Given the description of an element on the screen output the (x, y) to click on. 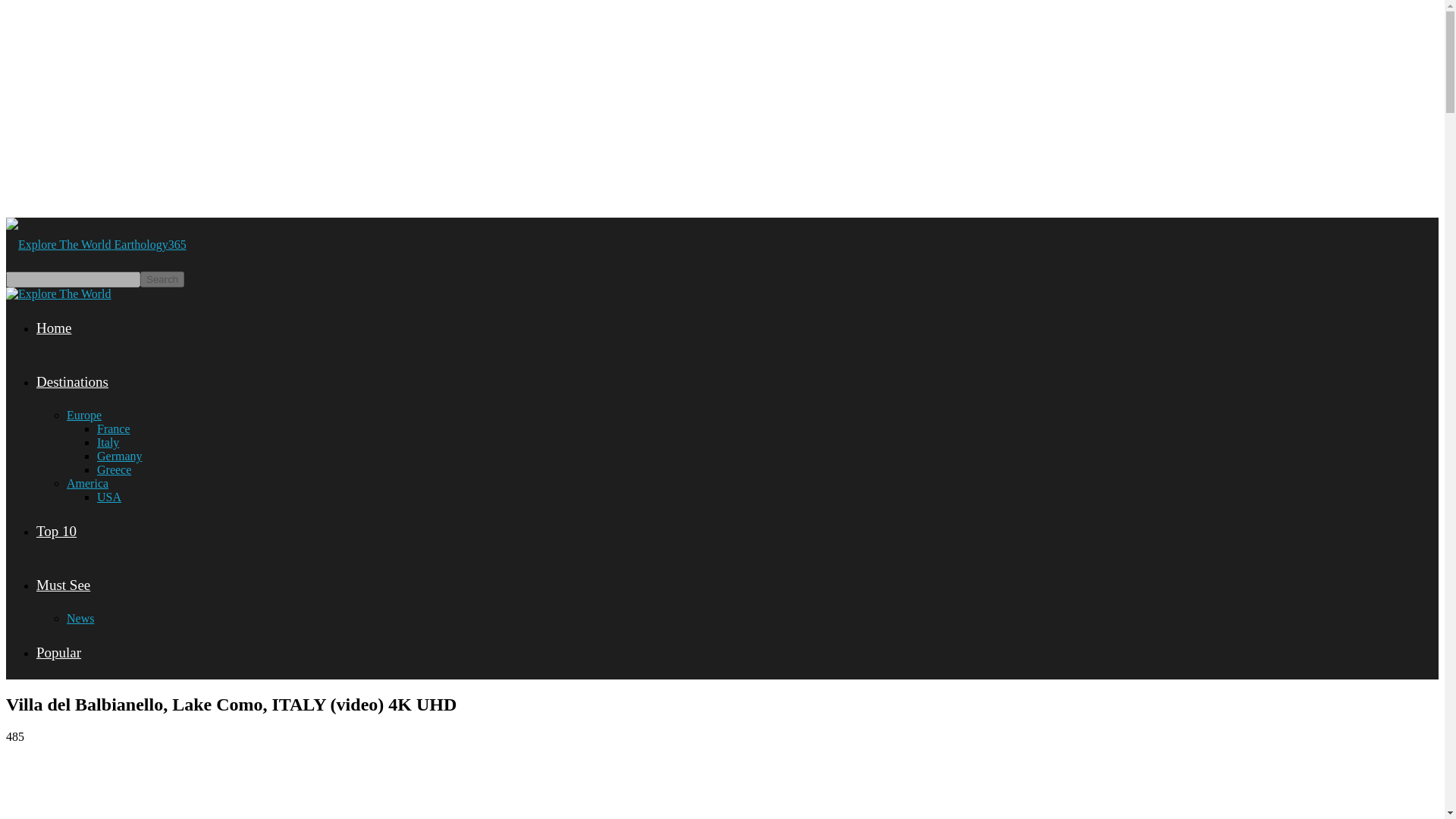
Magical Earth (58, 294)
Greece (114, 469)
Italy (108, 441)
Europe (83, 414)
America (86, 482)
Destinations (71, 381)
USA (108, 496)
Top 10 (56, 530)
France (114, 428)
Germany (119, 455)
Search (161, 279)
Popular (58, 652)
Earthology365 (95, 244)
News (80, 617)
Magical Earth (58, 244)
